Given the description of an element on the screen output the (x, y) to click on. 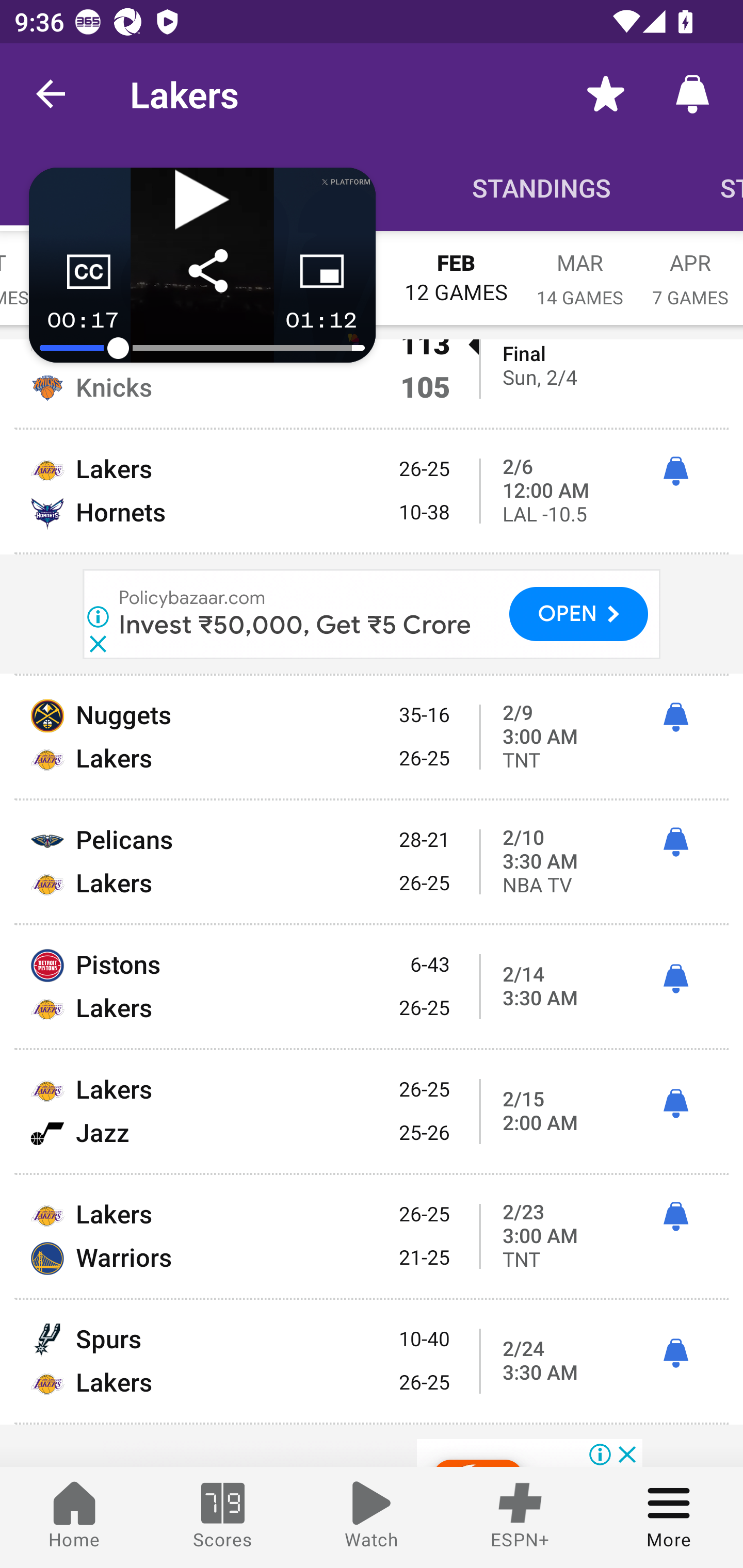
back.button (50, 93)
Favorite toggle (605, 93)
Alerts (692, 93)
Standings STANDINGS (541, 187)
Stats STATS (696, 187)
NOV 16 GAMES (101, 268)
DEC 15 GAMES (216, 268)
JAN 15 GAMES (332, 268)
FEB 12 GAMES (456, 267)
MAR 14 GAMES (579, 268)
APR 7 GAMES (690, 268)
Lakers 113  Knicks 105 Final Sun, 2/4 (371, 383)
ì (675, 470)
Policybazaar.com (192, 597)
OPEN (578, 613)
Invest ₹50,000, Get ₹5 Crore (295, 624)
Nuggets 35-16 Lakers 26-25 2/9 3:00 AM ì TNT (371, 736)
ì (675, 716)
Pelicans 28-21 Lakers 26-25 2/10 3:30 AM ì NBA TV (371, 862)
ì (675, 842)
Pistons 6-43 Lakers 26-25 2/14 3:30 AM ì (371, 986)
ì (675, 978)
Lakers 26-25 Jazz 25-26 2/15 2:00 AM ì (371, 1111)
ì (675, 1103)
Lakers 26-25 Warriors 21-25 2/23 3:00 AM ì TNT (371, 1236)
ì (675, 1217)
Spurs 10-40 Lakers 26-25 2/24 3:30 AM ì (371, 1360)
ì (675, 1353)
Home (74, 1517)
Scores (222, 1517)
Watch (371, 1517)
ESPN+ (519, 1517)
